Given the description of an element on the screen output the (x, y) to click on. 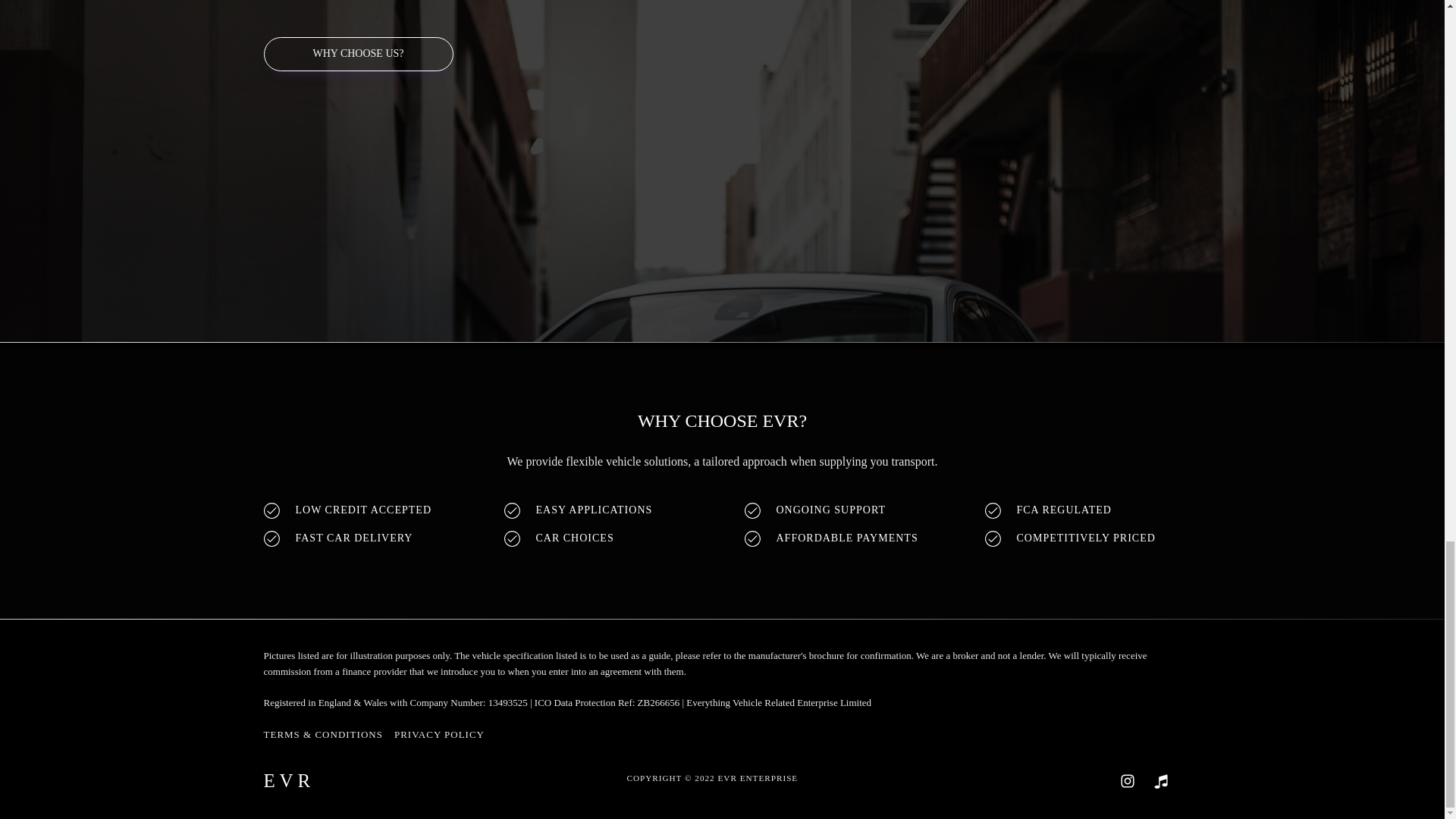
E V R (287, 780)
WHY CHOOSE US? (357, 53)
PRIVACY POLICY (439, 734)
